Given the description of an element on the screen output the (x, y) to click on. 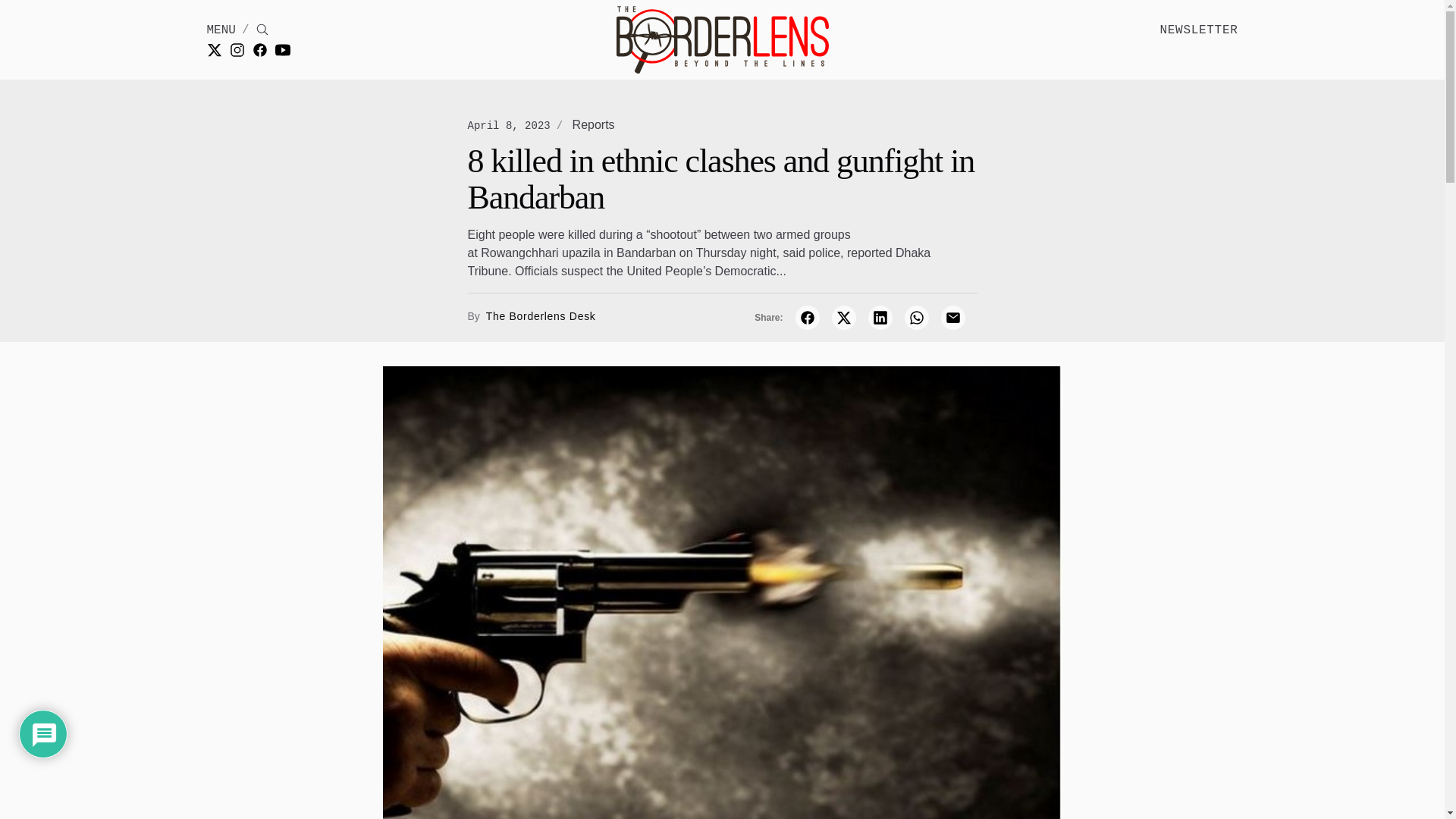
Reports (593, 124)
MENU (220, 30)
The Borderlens Desk (539, 315)
NEWSLETTER (1197, 29)
